Given the description of an element on the screen output the (x, y) to click on. 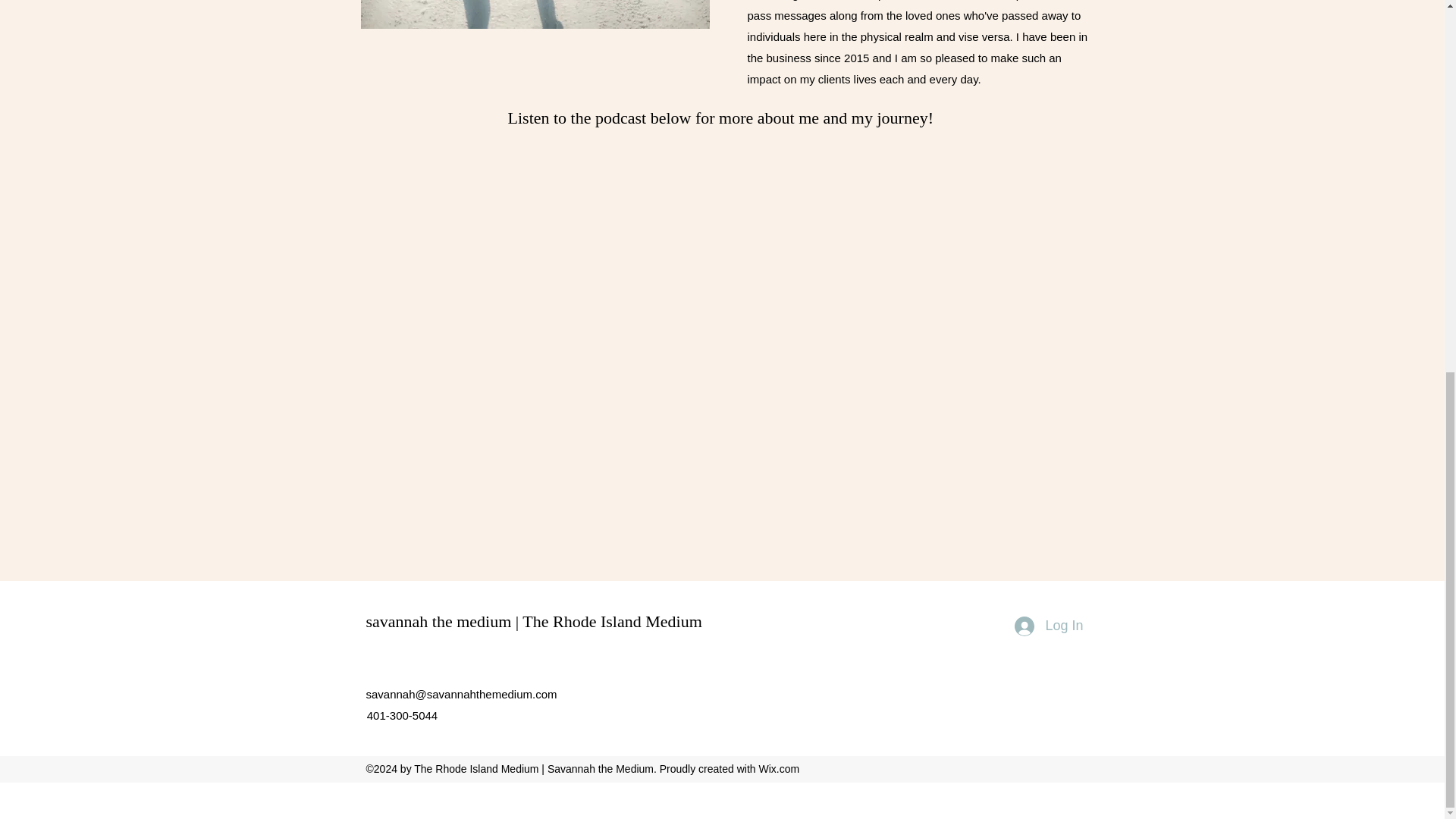
Log In (1048, 625)
